Given the description of an element on the screen output the (x, y) to click on. 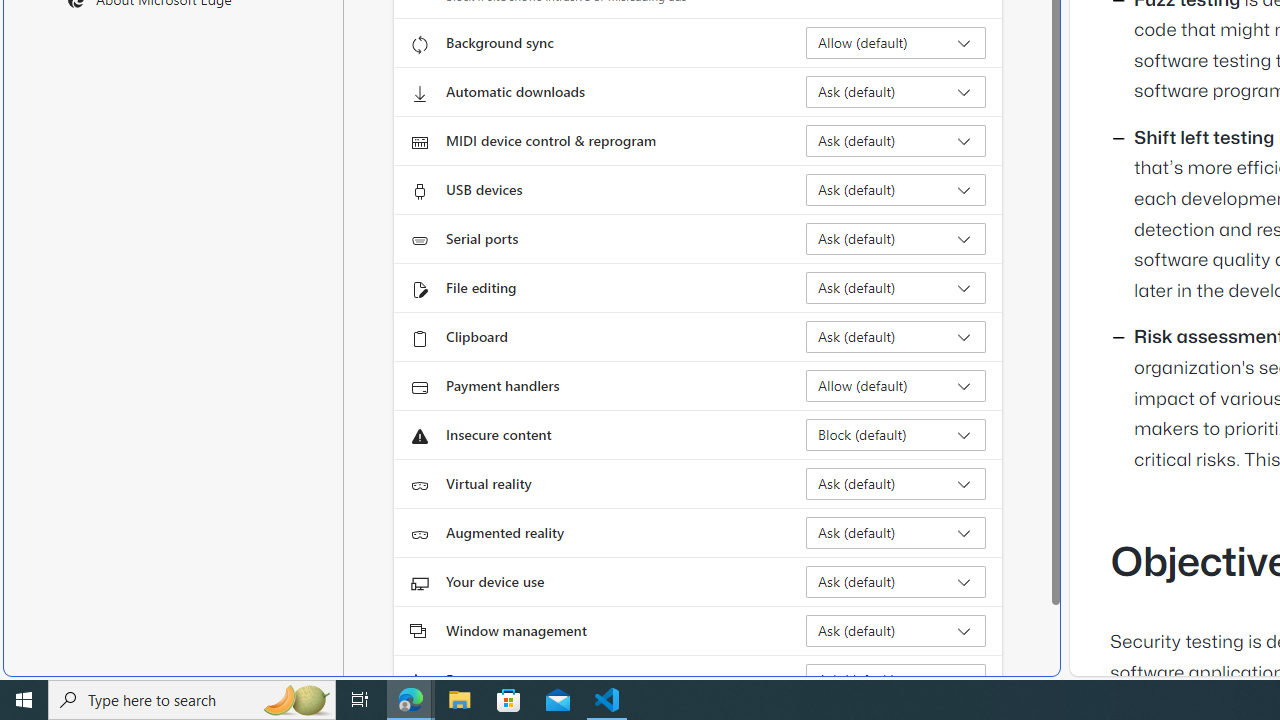
Augmented reality Ask (default) (895, 532)
File editing Ask (default) (895, 287)
Virtual reality Ask (default) (895, 483)
Payment handlers Allow (default) (895, 385)
Fonts Ask (default) (895, 679)
MIDI device control & reprogram Ask (default) (895, 140)
Automatic downloads Ask (default) (895, 92)
USB devices Ask (default) (895, 189)
Clipboard Ask (default) (895, 336)
Window management Ask (default) (895, 630)
Your device use Ask (default) (895, 581)
Insecure content Block (default) (895, 434)
Serial ports Ask (default) (895, 238)
Background sync Allow (default) (895, 43)
